Given the description of an element on the screen output the (x, y) to click on. 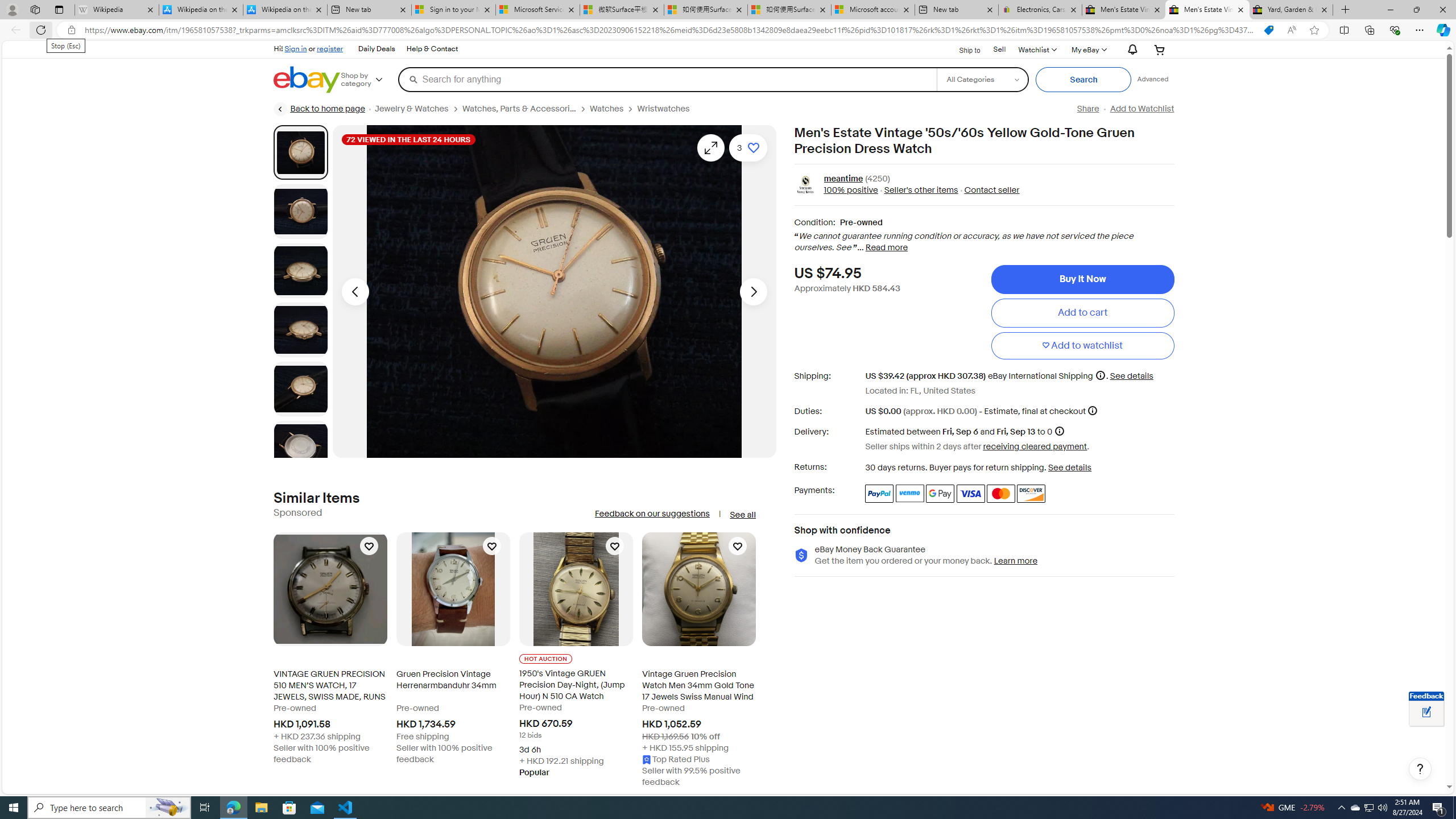
receiving cleared payment (1034, 446)
AutomationID: gh-eb-Alerts (1131, 49)
Sign in (295, 48)
Watchlist (1036, 49)
Picture 6 of 8 (300, 448)
Picture 3 of 8 (300, 270)
Add to Watchlist (1141, 108)
Watches, Parts & Accessories (518, 108)
More information (1092, 410)
